Given the description of an element on the screen output the (x, y) to click on. 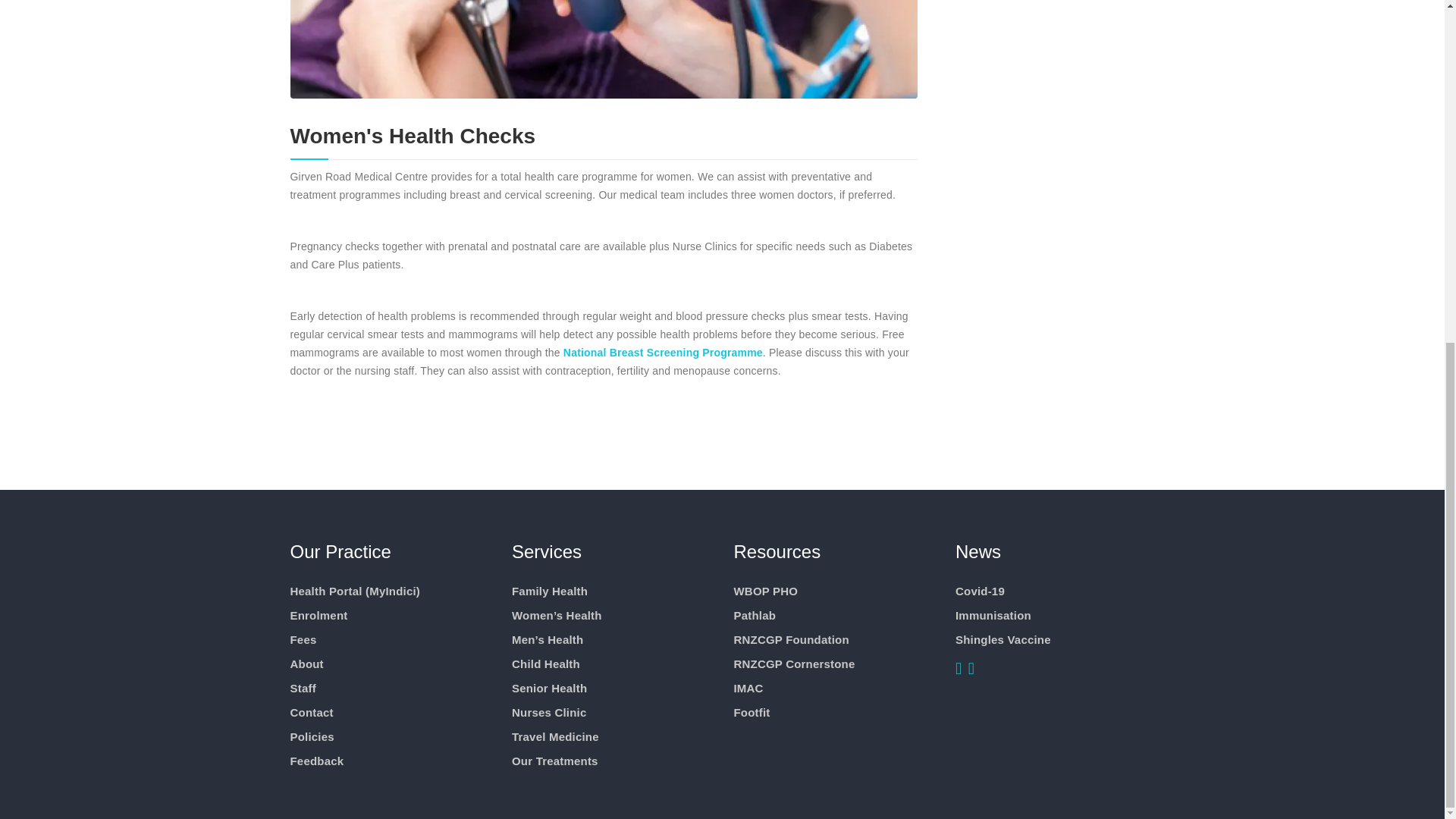
National Breast Screening Programme (662, 352)
womens-checkup (603, 49)
Enrolment (318, 615)
Fees (302, 639)
Enrolment (318, 615)
